Given the description of an element on the screen output the (x, y) to click on. 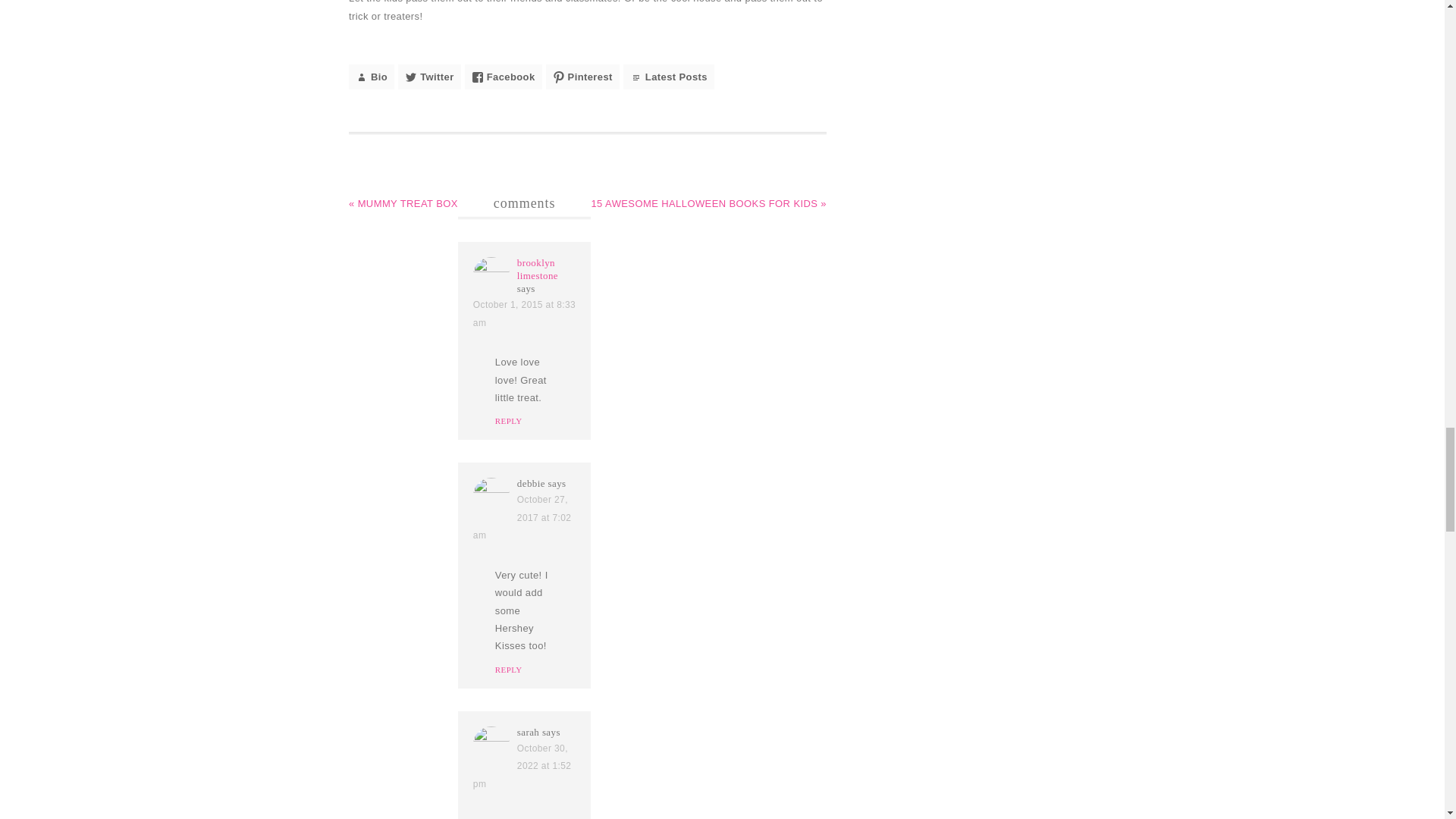
Latest Posts (668, 76)
Pinterest (583, 76)
Bio (371, 76)
Facebook (502, 76)
Twitter (428, 76)
